Given the description of an element on the screen output the (x, y) to click on. 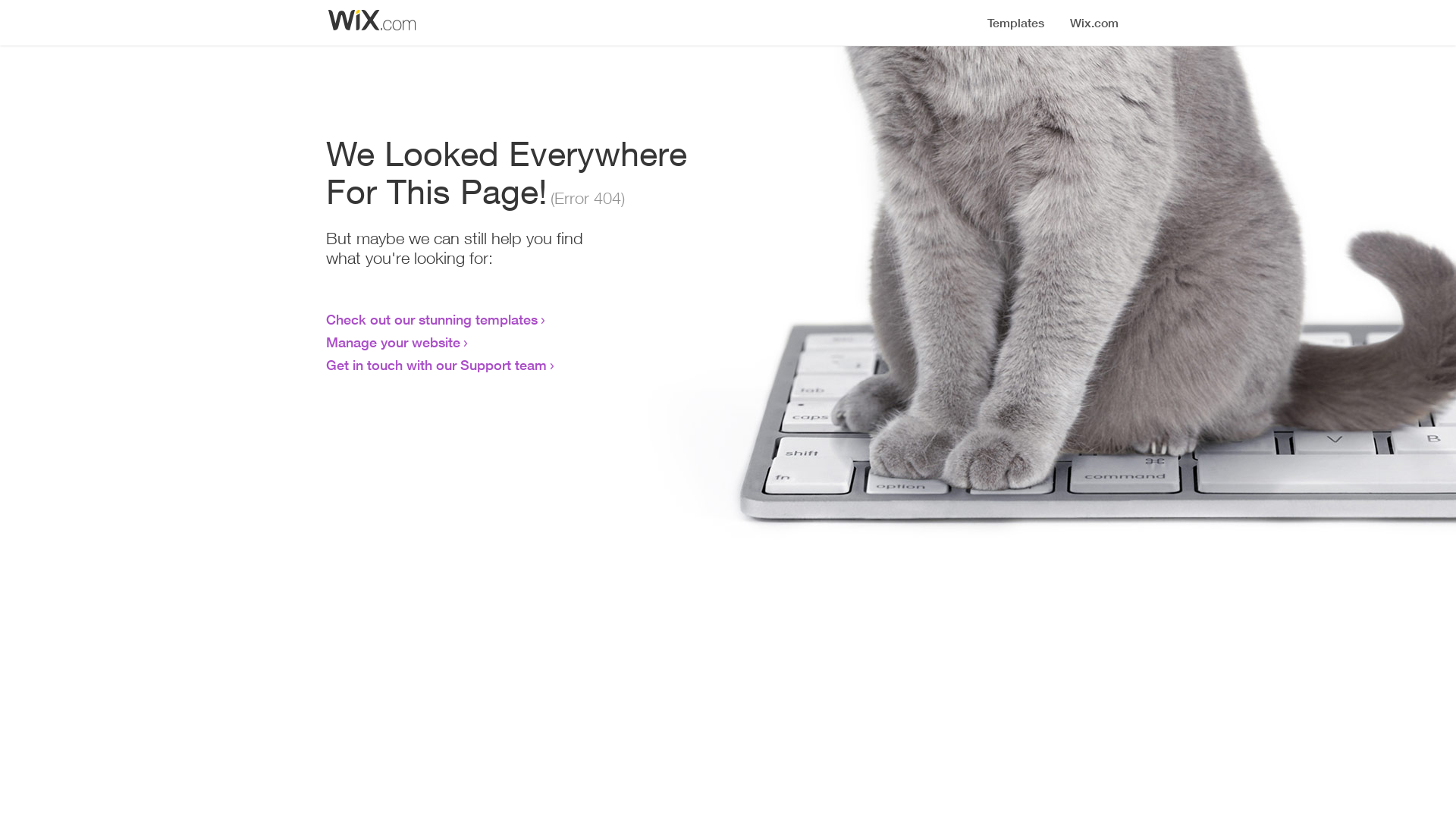
Check out our stunning templates Element type: text (431, 318)
Get in touch with our Support team Element type: text (436, 364)
Manage your website Element type: text (393, 341)
